Given the description of an element on the screen output the (x, y) to click on. 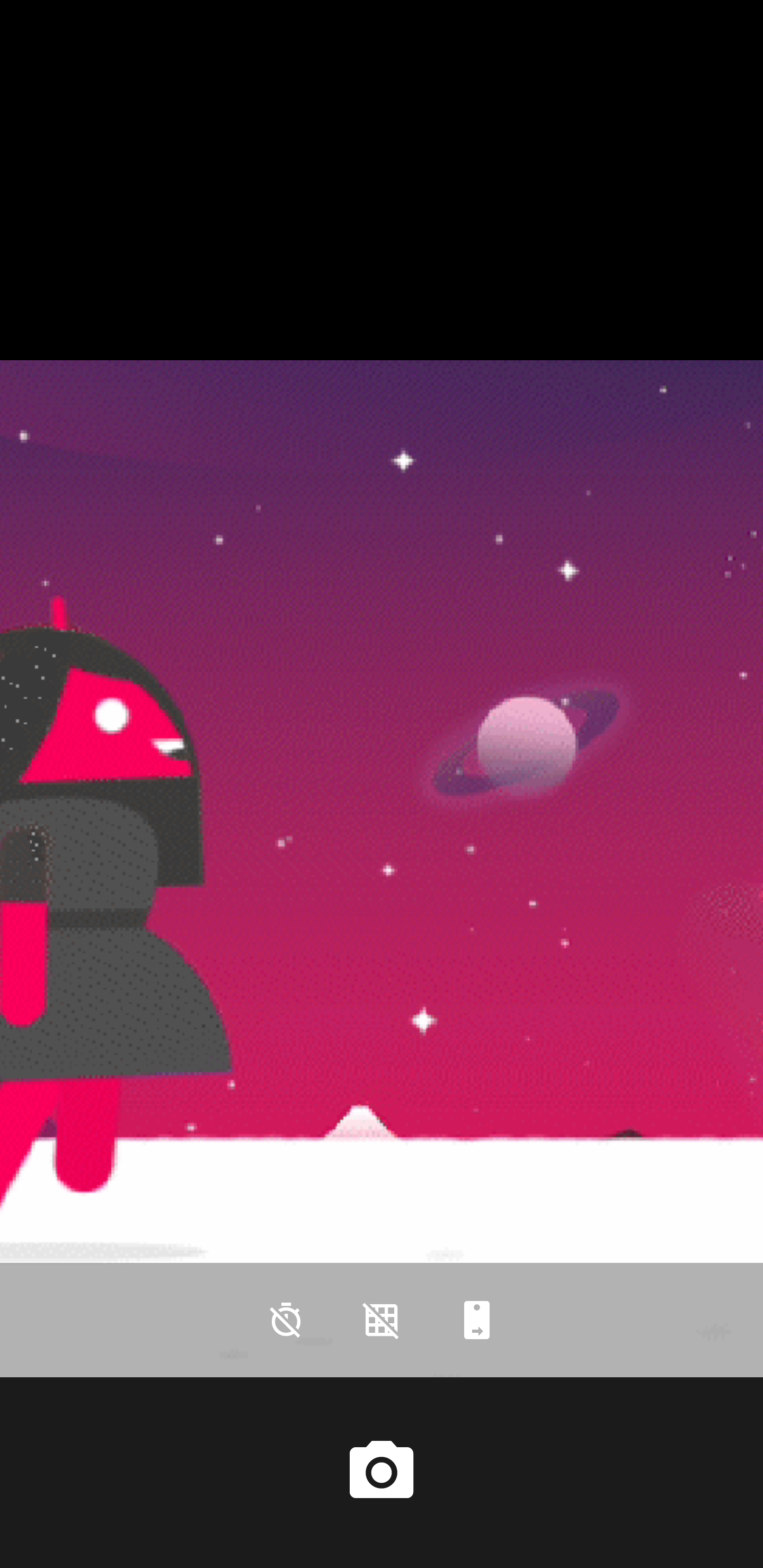
Countdown timer is off (285, 1319)
Grid lines off (381, 1319)
Back camera (476, 1319)
Shutter (381, 1472)
